Given the description of an element on the screen output the (x, y) to click on. 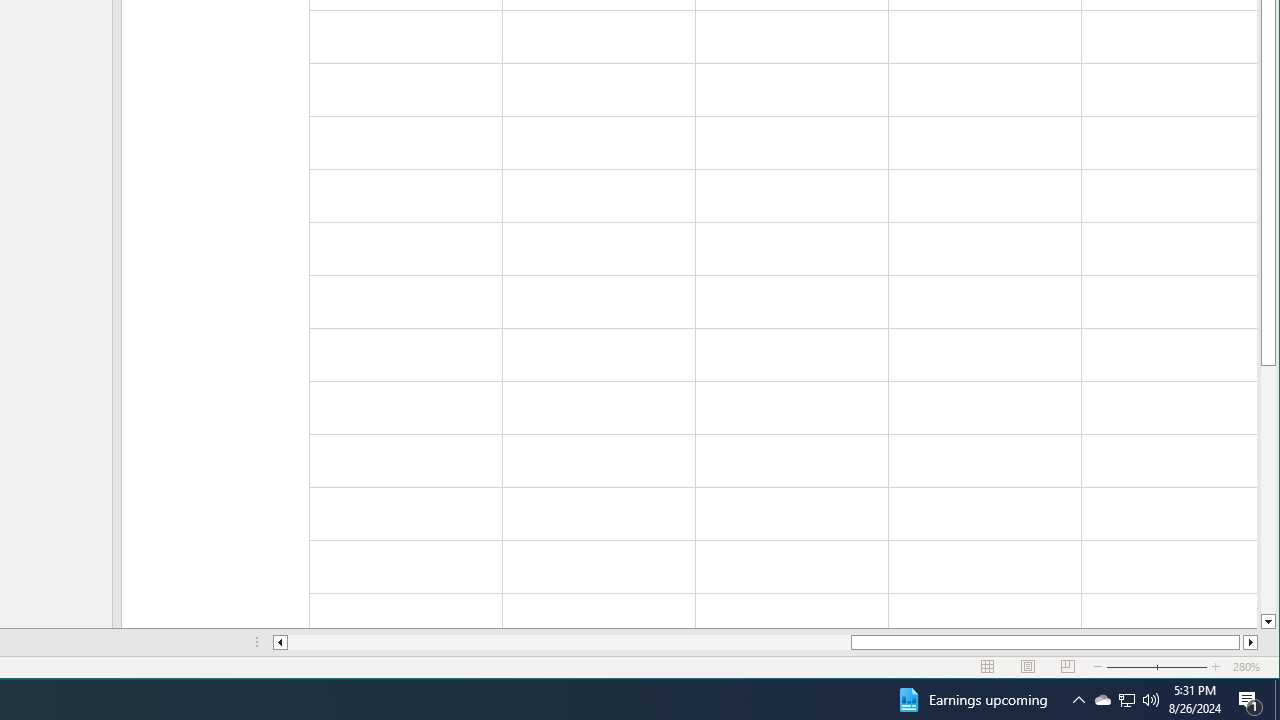
Notification Chevron (1078, 699)
Action Center, 1 new notification (1102, 699)
Q2790: 100% (1250, 699)
